Given the description of an element on the screen output the (x, y) to click on. 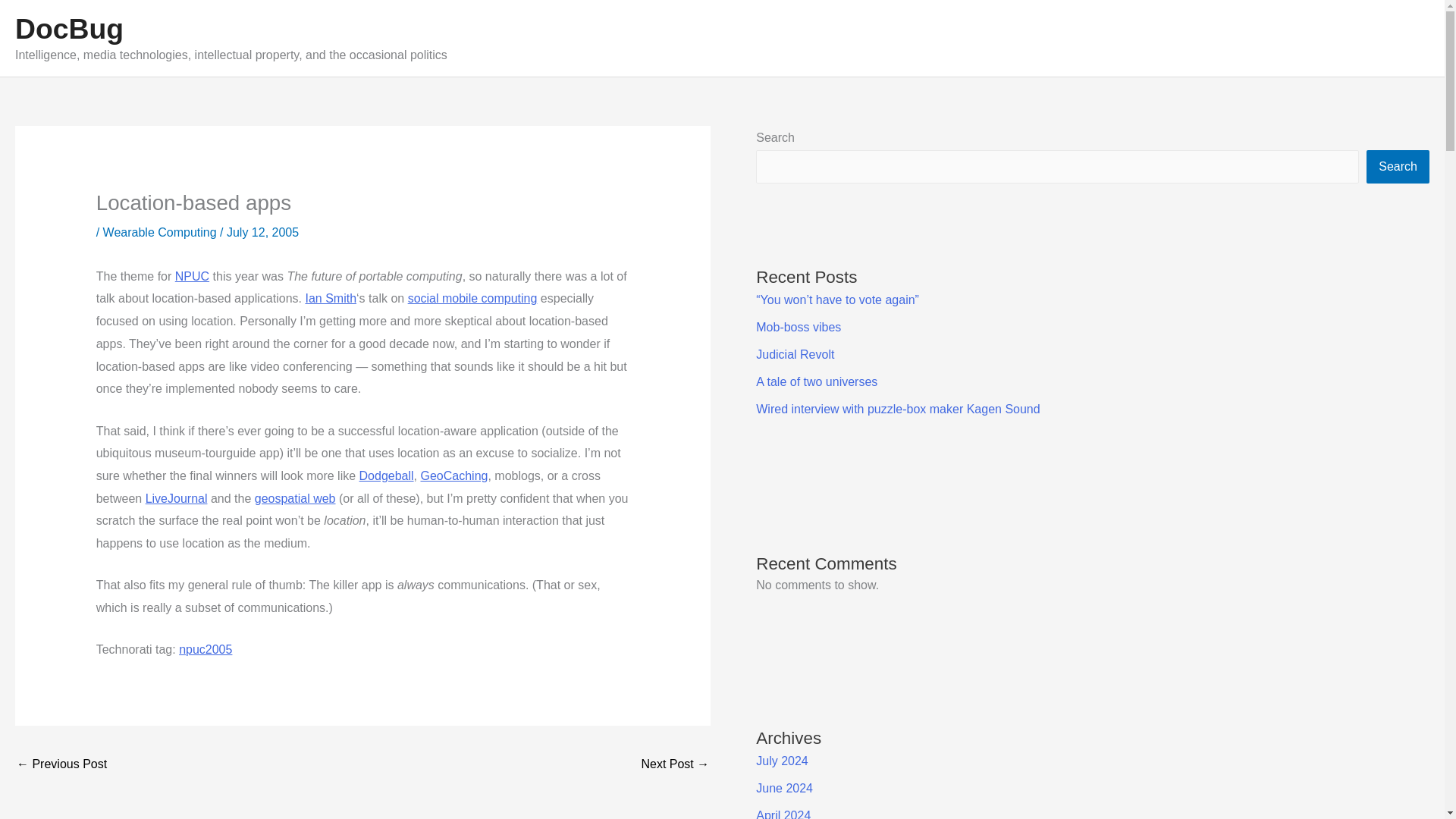
NPUC (191, 276)
July 2024 (781, 760)
June 2024 (783, 788)
social mobile computing (472, 297)
A tale of two universes (816, 381)
Search (1398, 166)
Wired interview with puzzle-box maker Kagen Sound (897, 408)
April 2024 (782, 814)
JD Lasica on NPUC (61, 765)
geospatial web (295, 498)
